Given the description of an element on the screen output the (x, y) to click on. 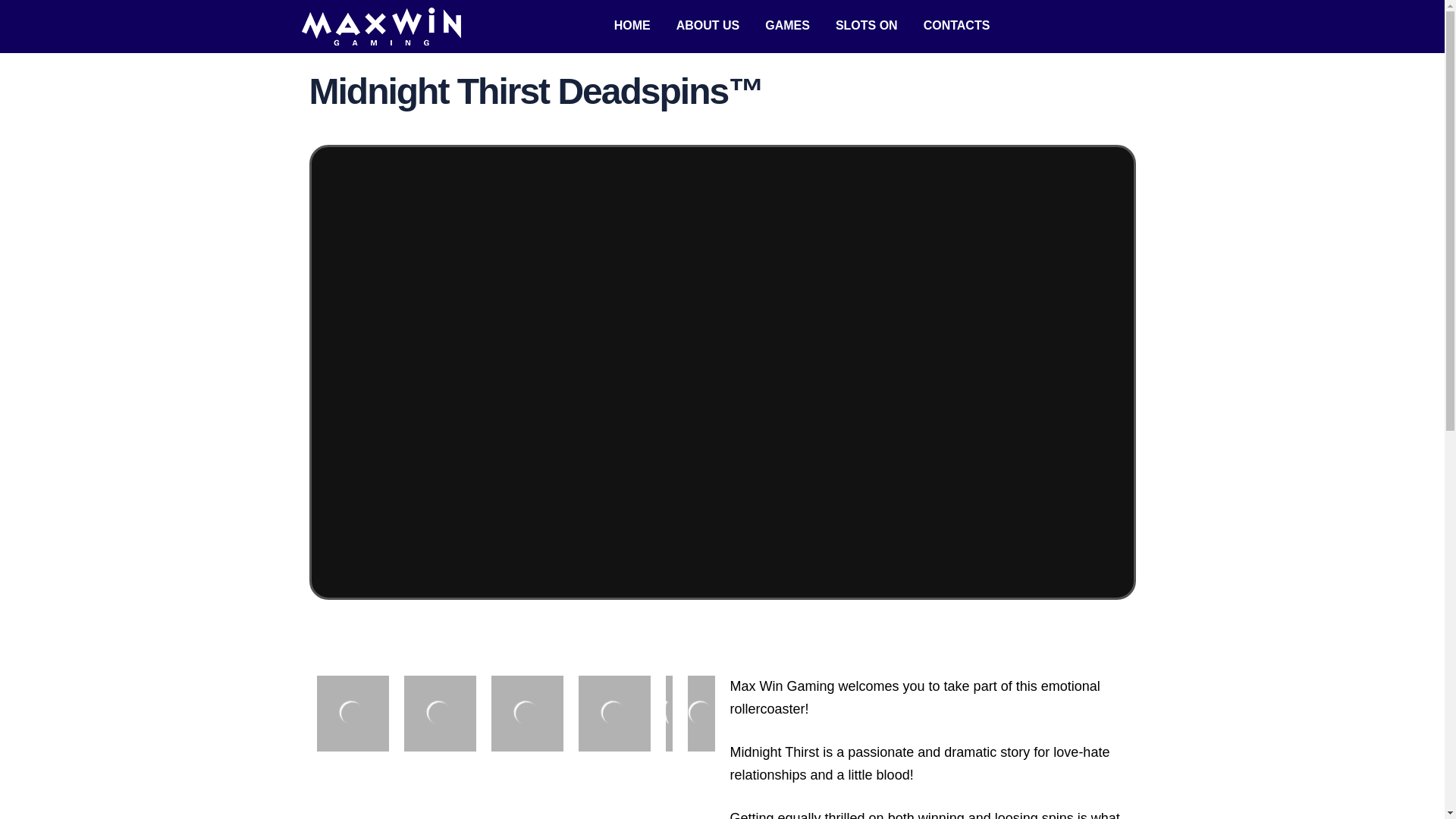
GAMES (787, 25)
CONTACTS (957, 25)
ABOUT US (707, 25)
SLOTS ON (866, 25)
HOME (632, 25)
